Given the description of an element on the screen output the (x, y) to click on. 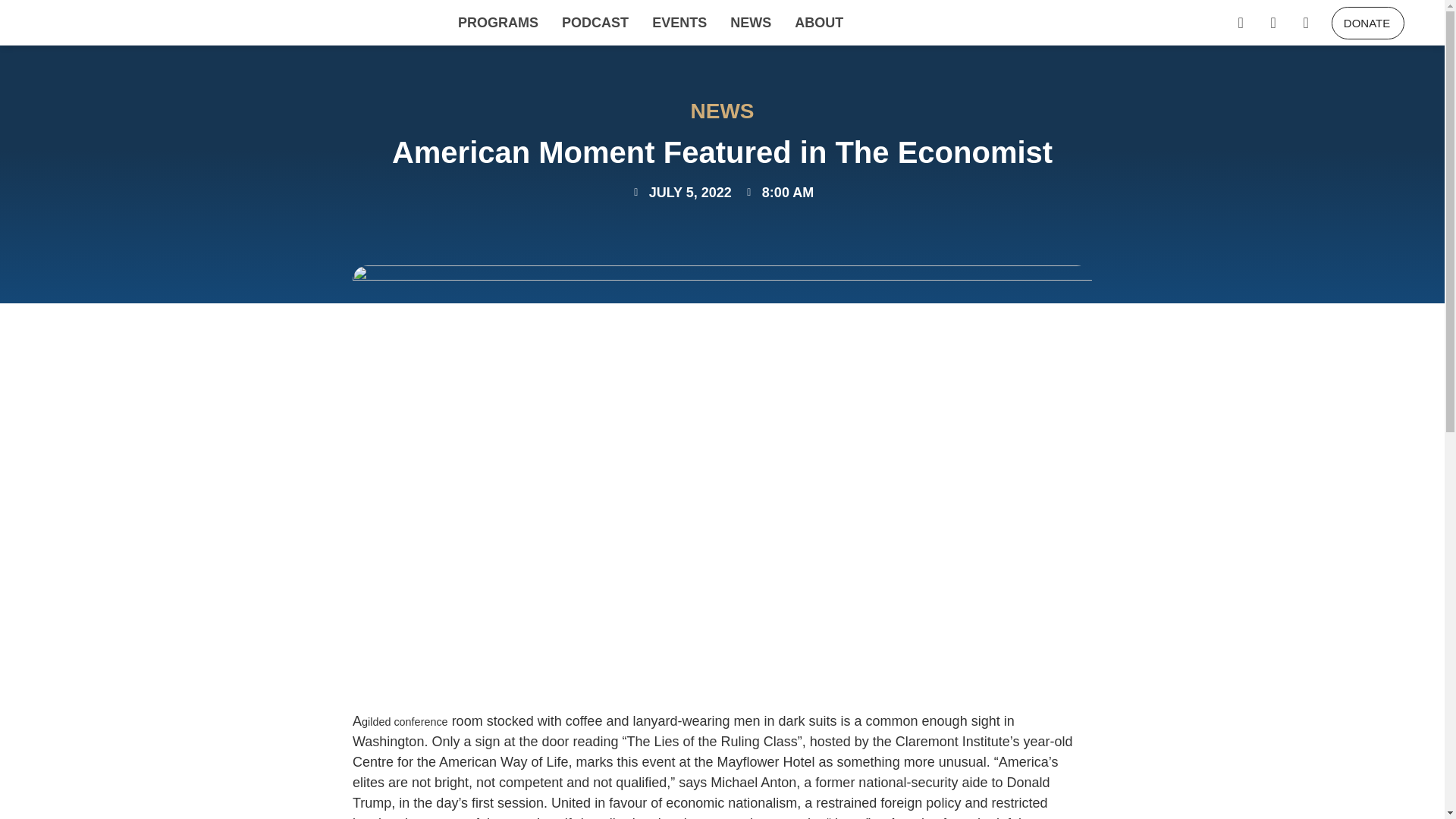
DONATE (1368, 21)
PROGRAMS (497, 22)
JULY 5, 2022 (681, 191)
EVENTS (679, 22)
ABOUT (818, 22)
NEWS (750, 22)
PODCAST (595, 22)
